Given the description of an element on the screen output the (x, y) to click on. 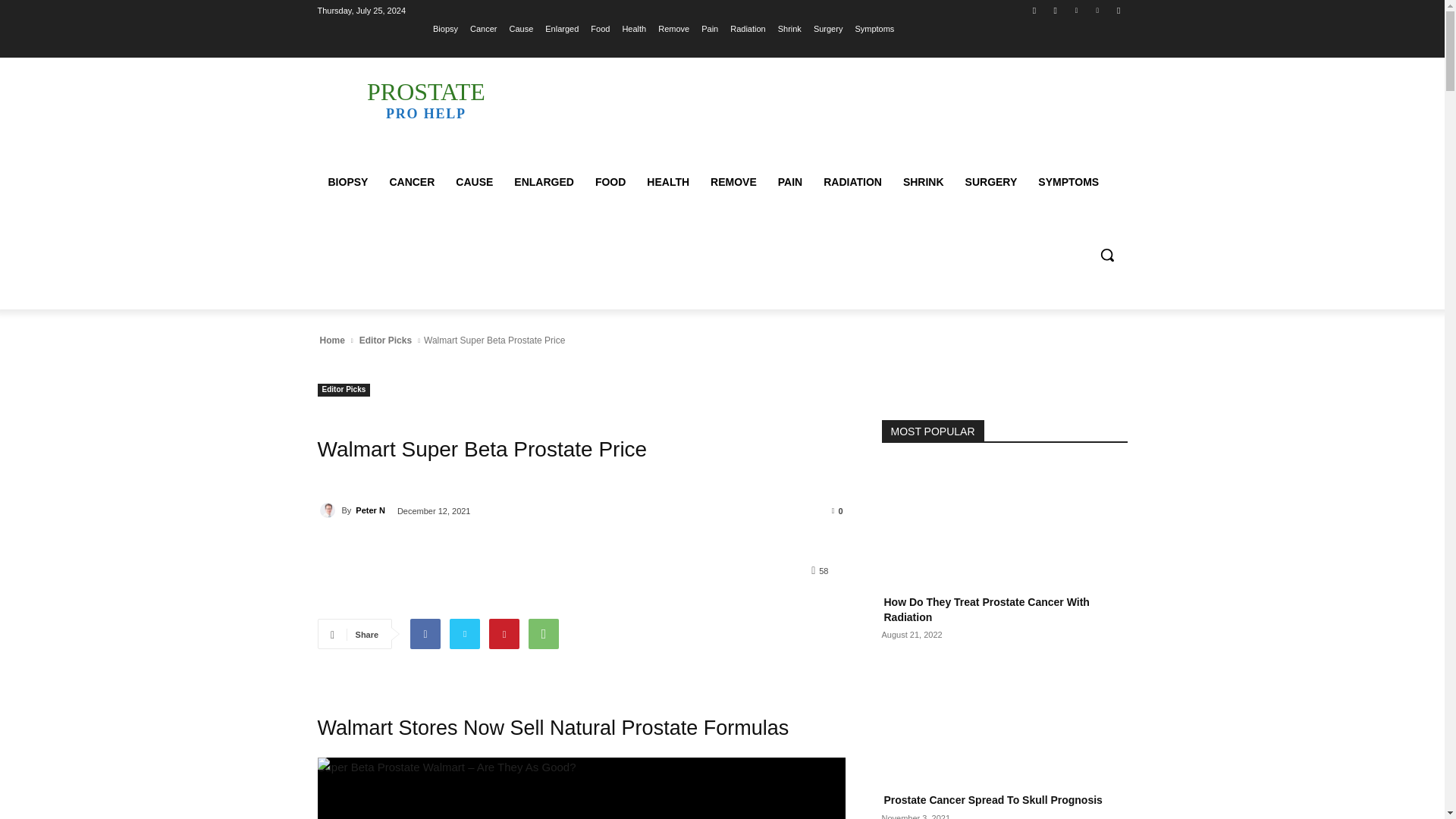
Cause (520, 28)
Facebook (1034, 9)
View all posts in Editor Picks (384, 340)
Twitter (1075, 9)
Shrink (789, 28)
Vimeo (1097, 9)
Food (600, 28)
Peter N (328, 509)
Twitter (463, 634)
Instagram (1055, 9)
WhatsApp (542, 634)
Symptoms (873, 28)
Remove (673, 28)
Radiation (747, 28)
Youtube (1117, 9)
